Given the description of an element on the screen output the (x, y) to click on. 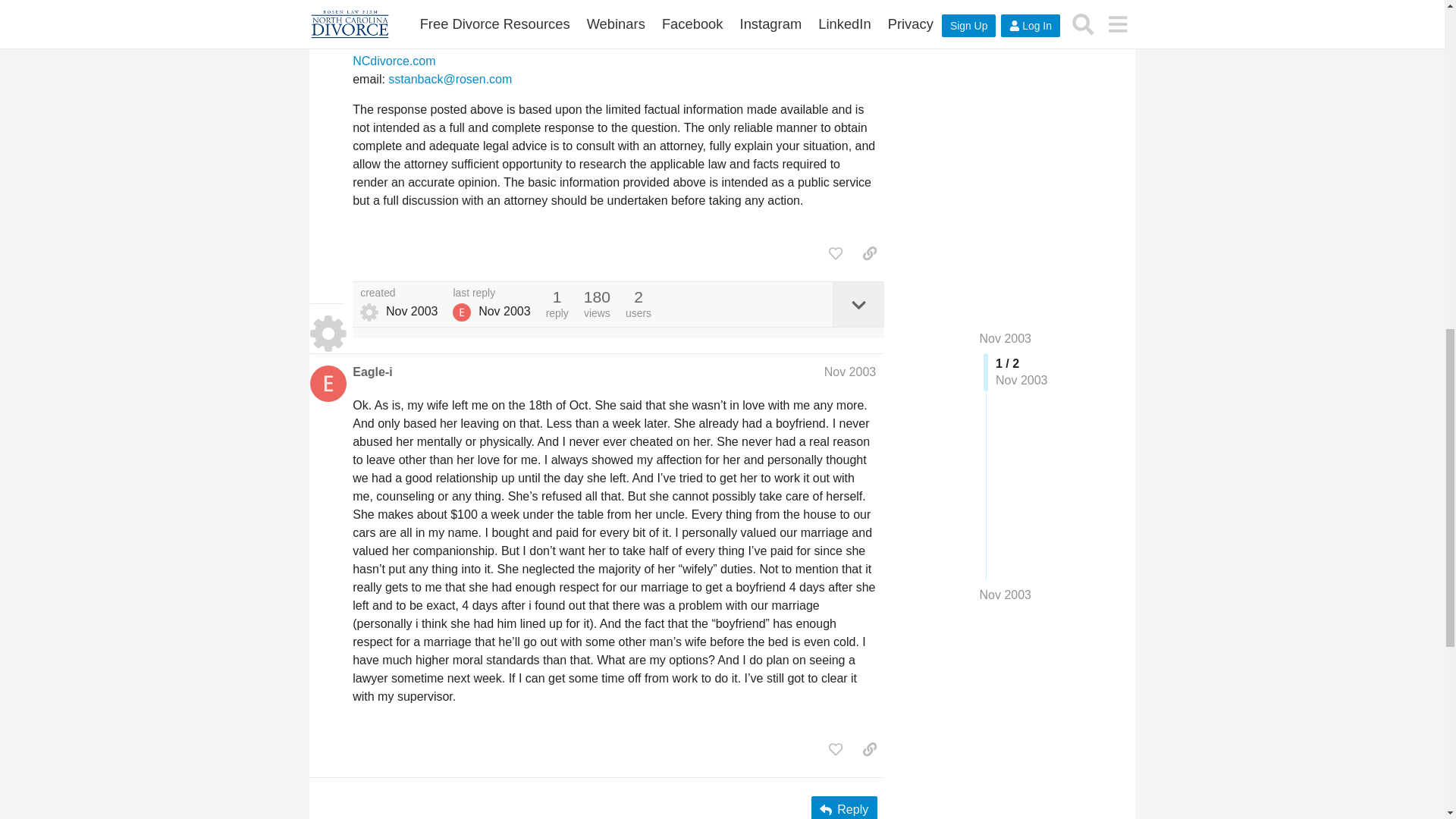
NCdivorce.com (393, 60)
last reply (490, 293)
